Given the description of an element on the screen output the (x, y) to click on. 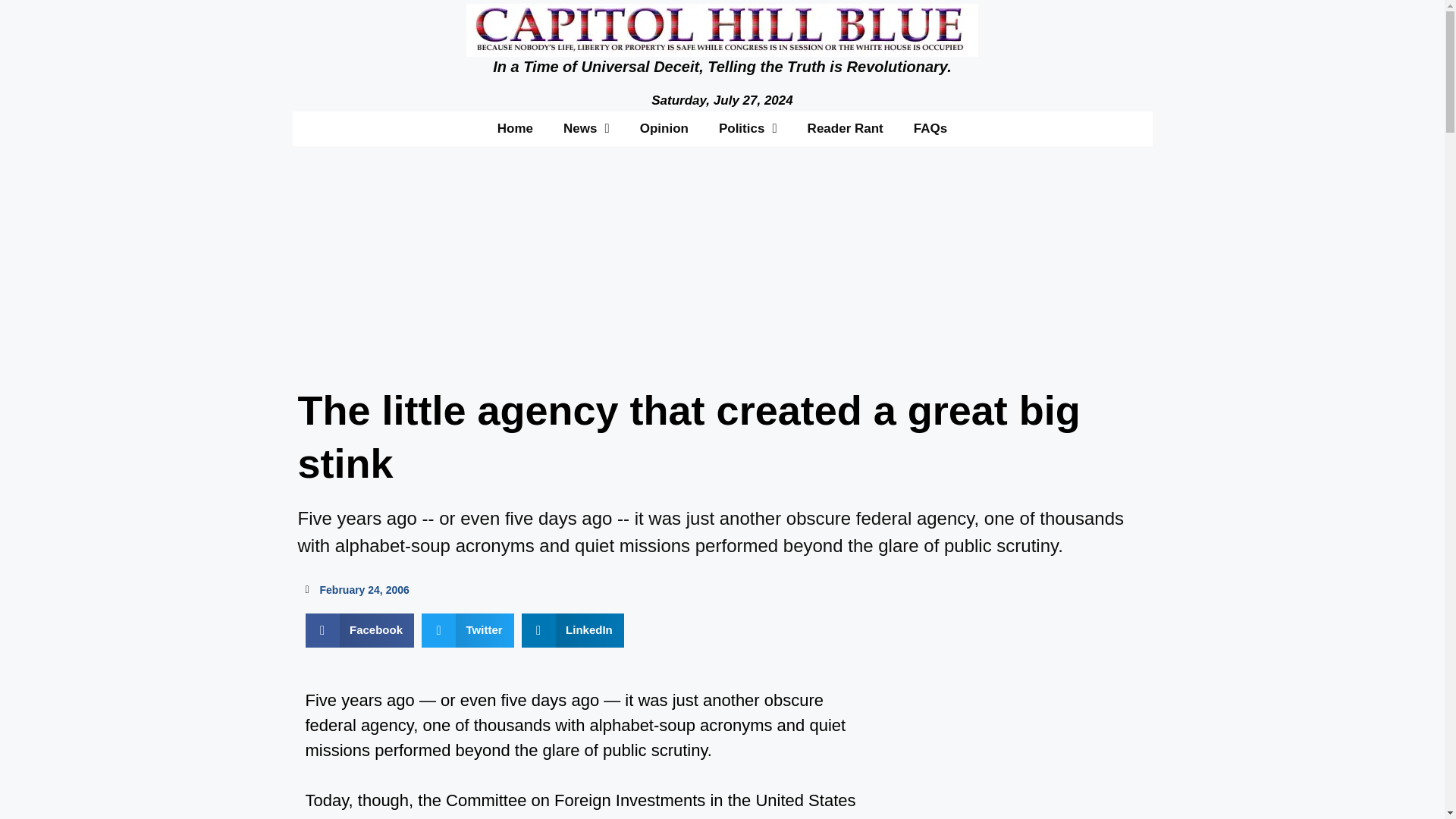
Reader Rant (845, 127)
Opinion (663, 127)
February 24, 2006 (356, 590)
Home (514, 127)
FAQs (930, 127)
Advertisement (985, 717)
Politics (747, 127)
News (586, 127)
